Given the description of an element on the screen output the (x, y) to click on. 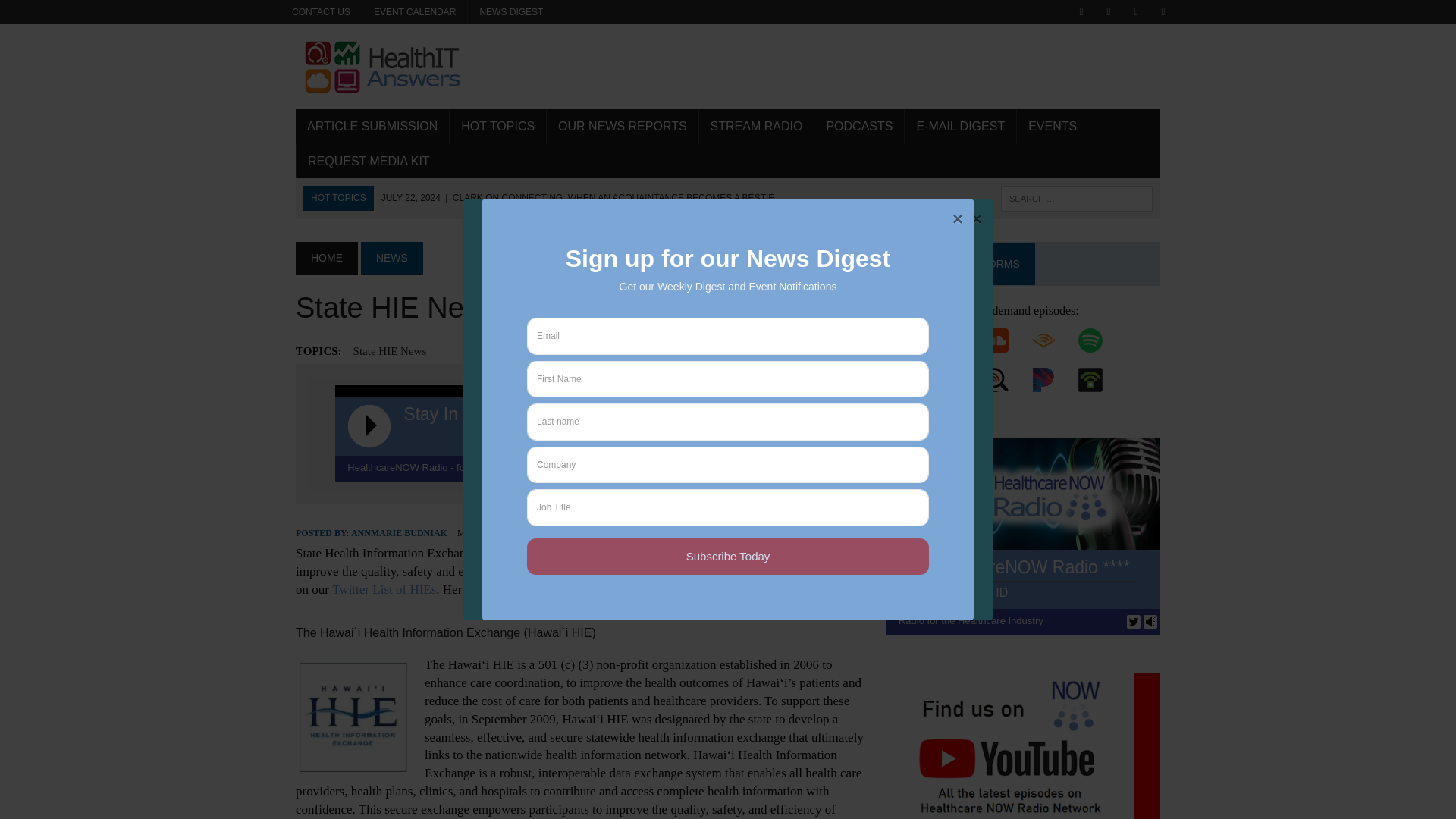
HOME (326, 257)
EVENTS (1051, 126)
Health IT Answers (727, 66)
EVENT CALENDAR (414, 12)
E-MAIL DIGEST (960, 126)
CONTACT US (321, 12)
Search (75, 14)
PODCASTS (858, 126)
STREAM RADIO (755, 126)
ARTICLE SUBMISSION (371, 126)
NEWS DIGEST (510, 12)
REQUEST MEDIA KIT (369, 161)
OUR NEWS REPORTS (622, 126)
HOT TOPICS (497, 126)
Clark on Connecting: When an Acquaintance Becomes a Bestie (577, 197)
